Given the description of an element on the screen output the (x, y) to click on. 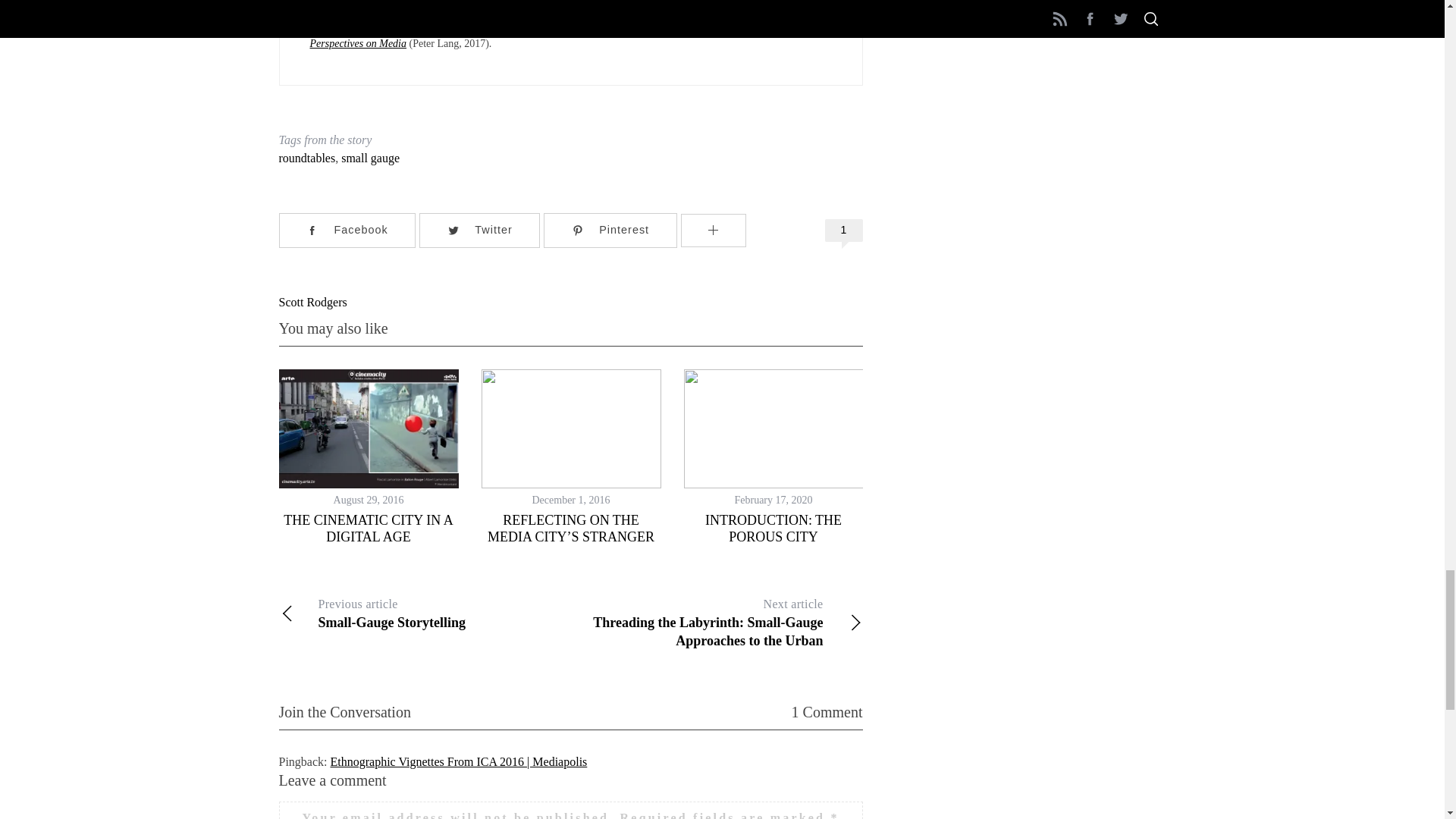
Posts by Scott Rodgers (313, 301)
